Given the description of an element on the screen output the (x, y) to click on. 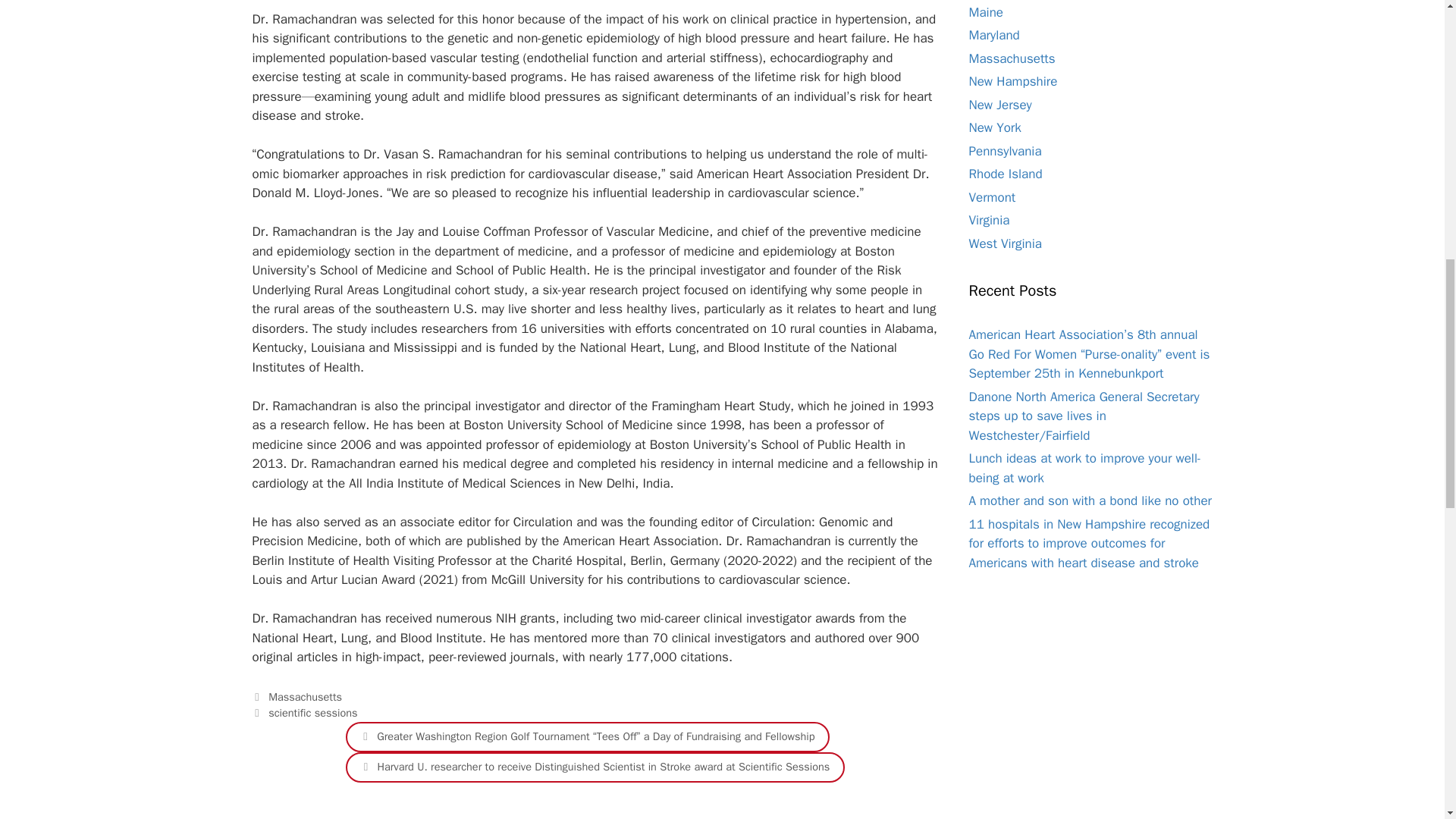
Virginia (989, 220)
New Hampshire (1013, 81)
Rhode Island (1005, 173)
West Virginia (1005, 243)
Massachusetts (1012, 58)
Lunch ideas at work to improve your well-being at work (1085, 468)
New Jersey (1000, 105)
scientific sessions (311, 712)
Massachusetts (304, 696)
Vermont (992, 197)
Maryland (994, 35)
Pennsylvania (1005, 150)
New York (995, 127)
Maine (986, 12)
